Given the description of an element on the screen output the (x, y) to click on. 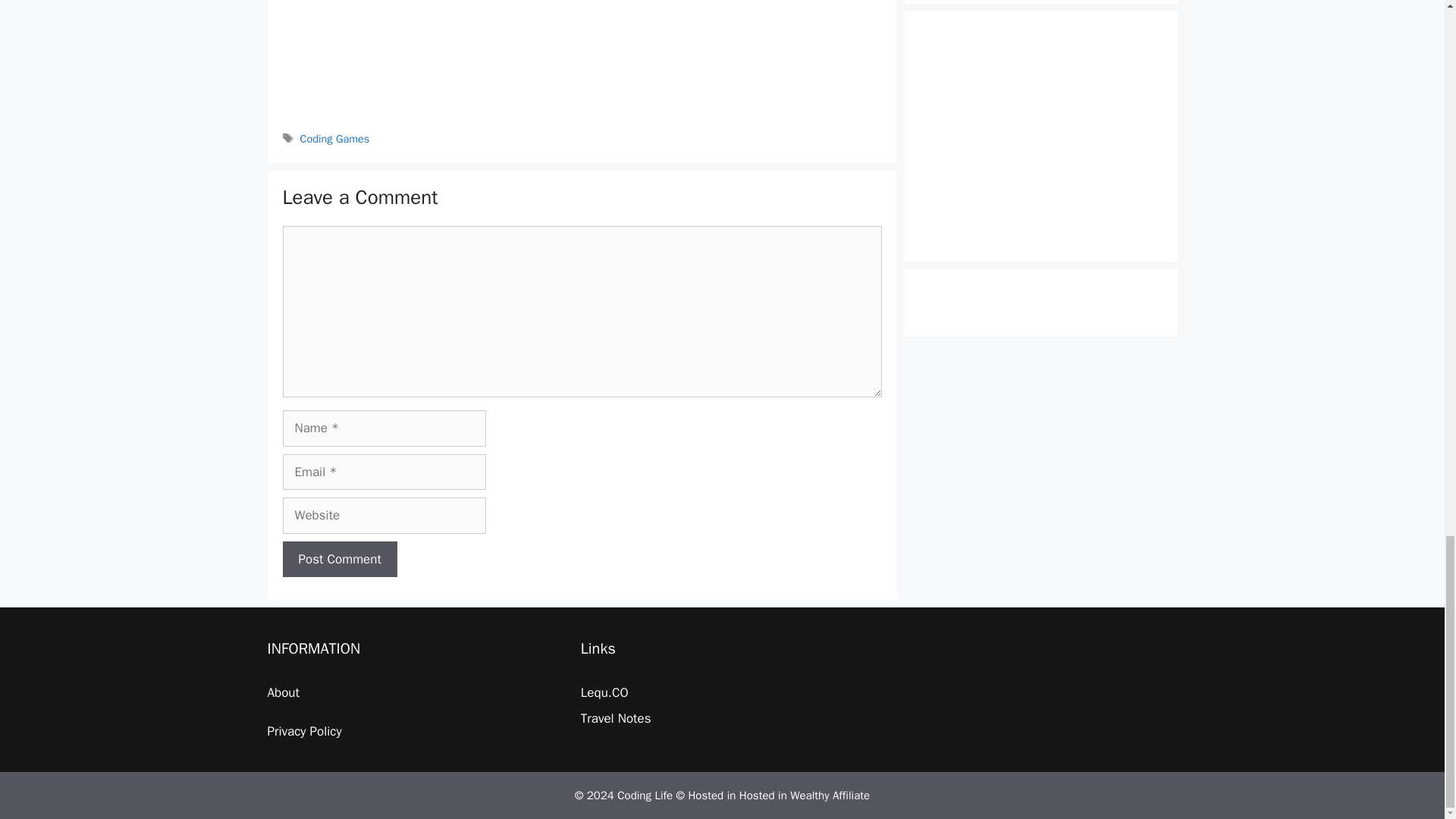
Lequ.CO (604, 692)
Post Comment (339, 559)
About (282, 692)
Coding Games (334, 138)
Privacy Policy (303, 731)
Post Comment (339, 559)
Advertisement (581, 62)
